Given the description of an element on the screen output the (x, y) to click on. 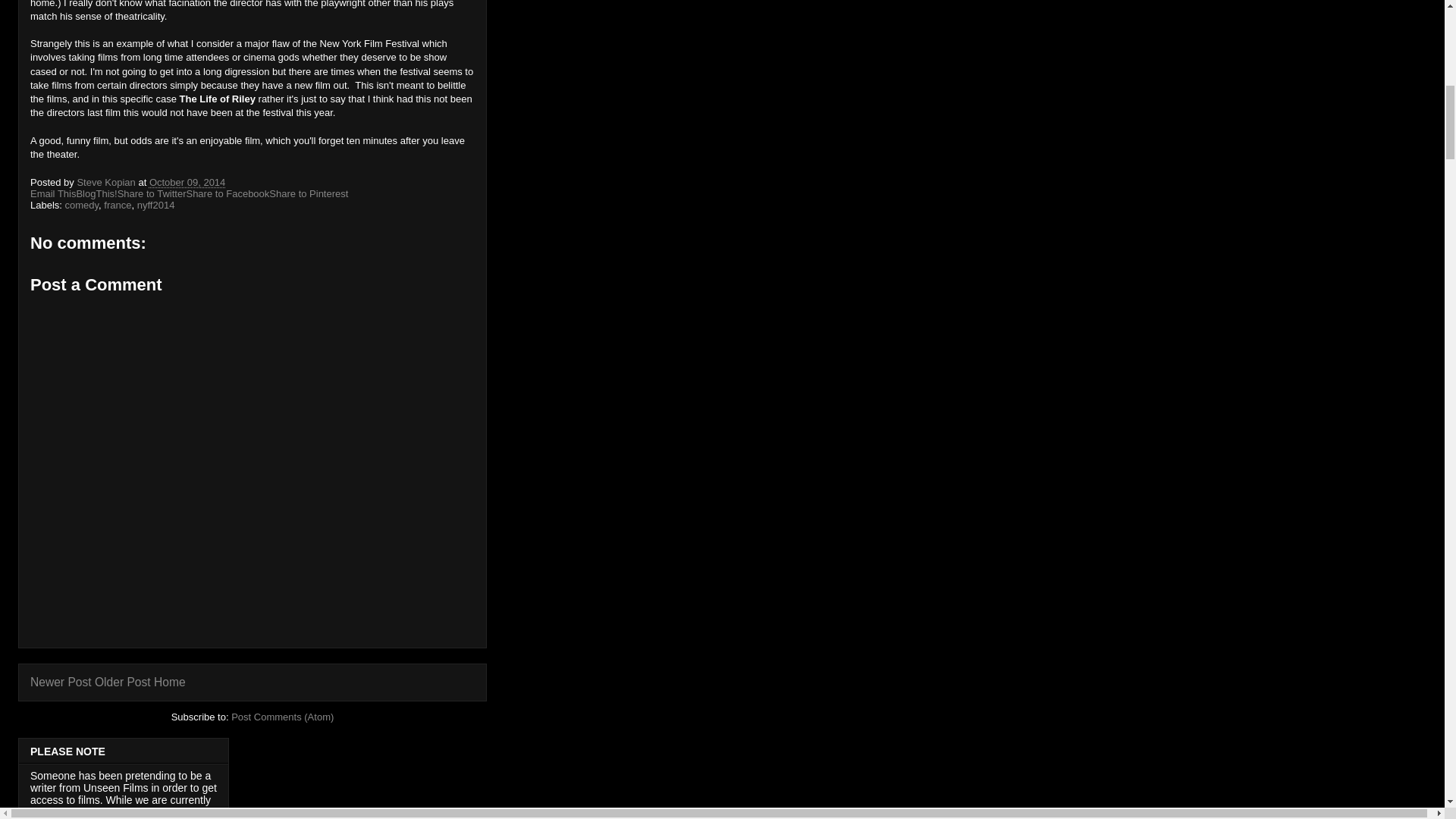
author profile (107, 182)
Share to Facebook (227, 193)
Newer Post (60, 681)
Share to Twitter (151, 193)
nyff2014 (155, 204)
Email This (52, 193)
Share to Facebook (227, 193)
comedy (82, 204)
Email Post (234, 182)
Share to Twitter (151, 193)
permanent link (187, 182)
Newer Post (60, 681)
france (117, 204)
BlogThis! (95, 193)
Share to Pinterest (308, 193)
